Given the description of an element on the screen output the (x, y) to click on. 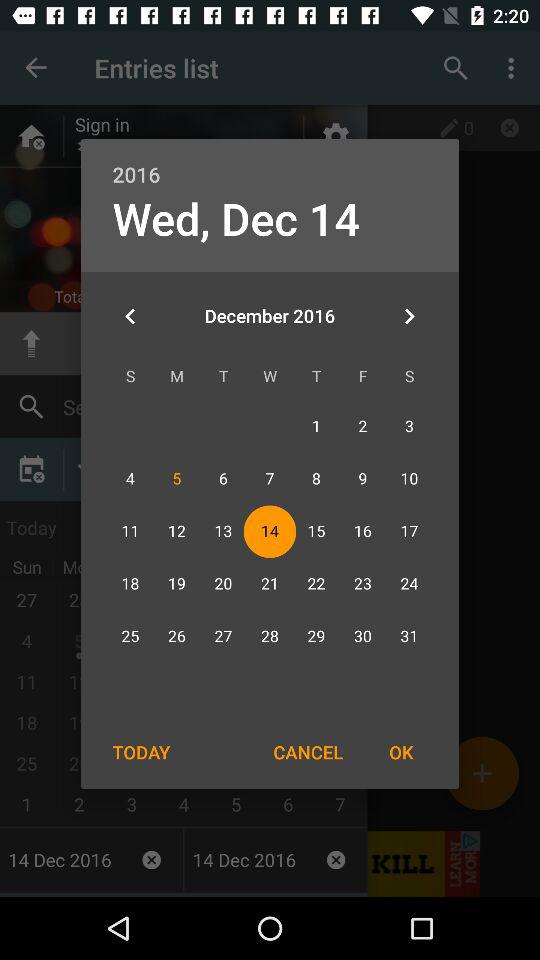
select icon to the right of the cancel item (401, 751)
